Given the description of an element on the screen output the (x, y) to click on. 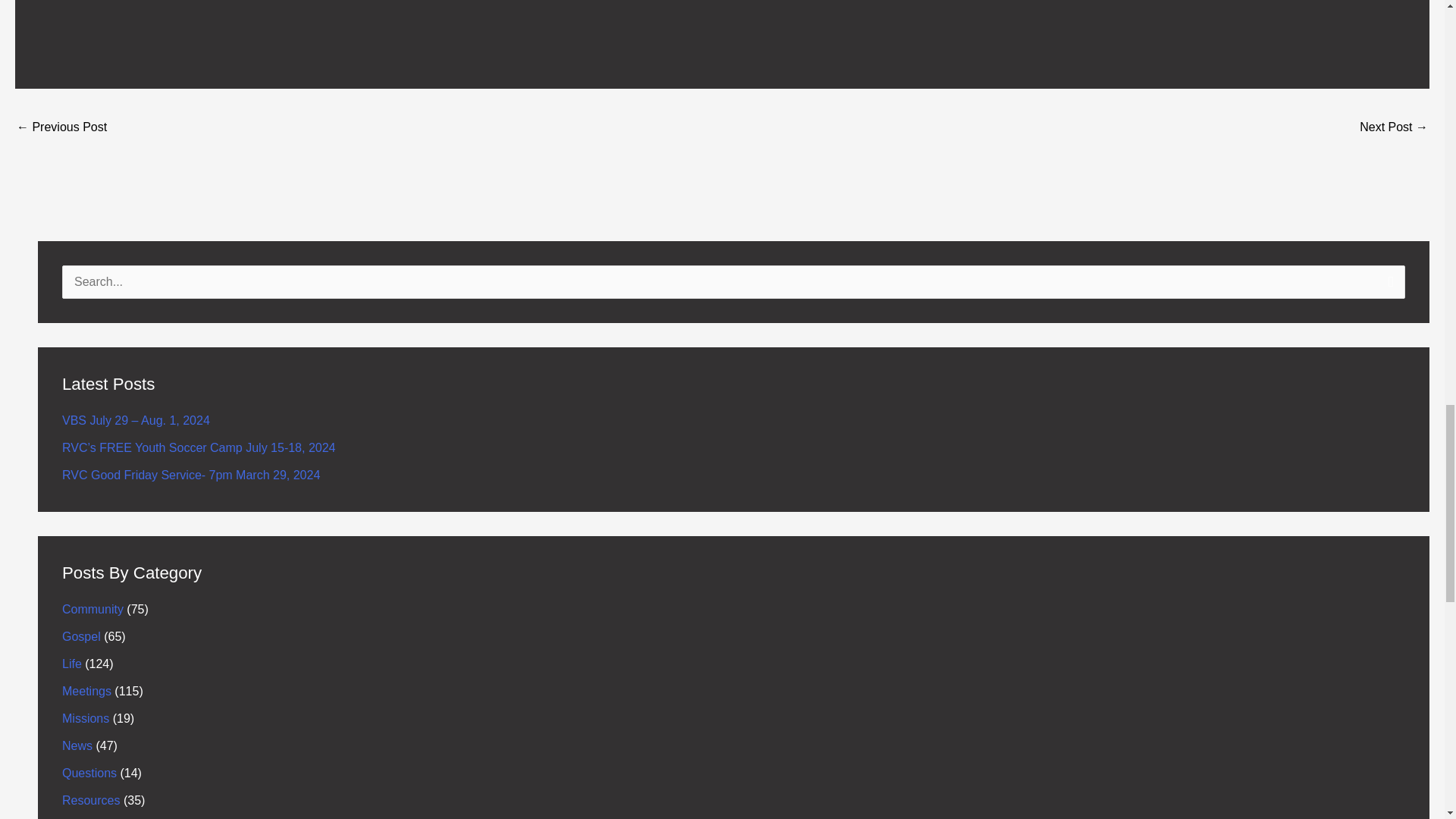
Missions (85, 717)
Meetings (87, 690)
Community (92, 608)
News (77, 745)
2016 Prayer Meetings (1393, 128)
Life (71, 663)
Questions (89, 772)
No, The Journey Is Not The Destination (61, 128)
Resources (90, 799)
Gospel (81, 635)
